Given the description of an element on the screen output the (x, y) to click on. 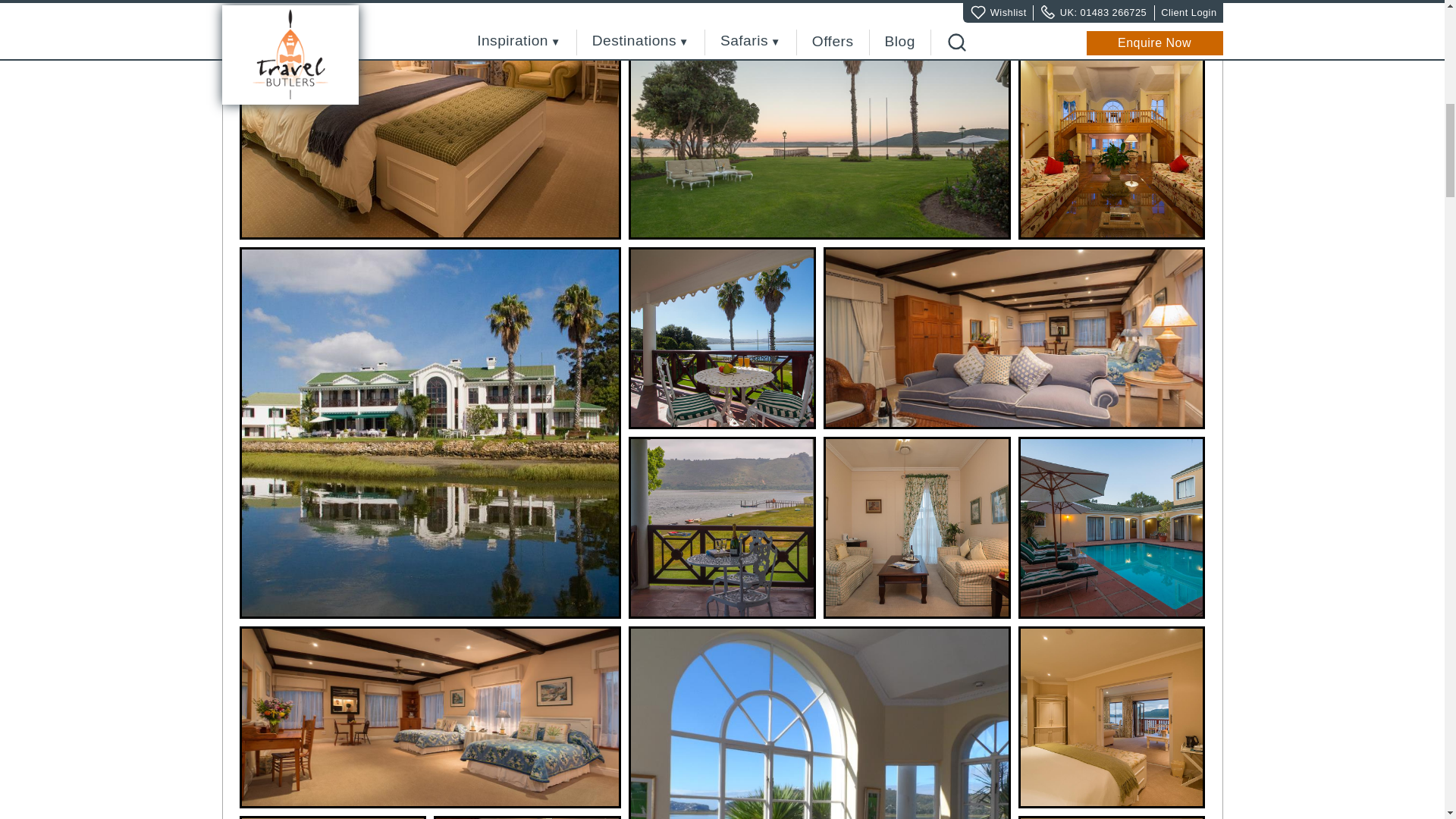
Lady Anne Suite (721, 338)
Deluxe Suite Bathroom (721, 24)
Lounge (1111, 148)
Balcony View (721, 527)
Sunset (819, 148)
Deluxe Suite (1111, 24)
Lounge View (819, 722)
Superior Suite Lounge (333, 817)
Superior Suite Interior (1111, 717)
Junior Suite (1014, 338)
Deluxe Suite (917, 527)
Junior Suite Lounge (527, 817)
Swimming Pool (1111, 527)
Superior Suite Bedroom (430, 119)
